Given the description of an element on the screen output the (x, y) to click on. 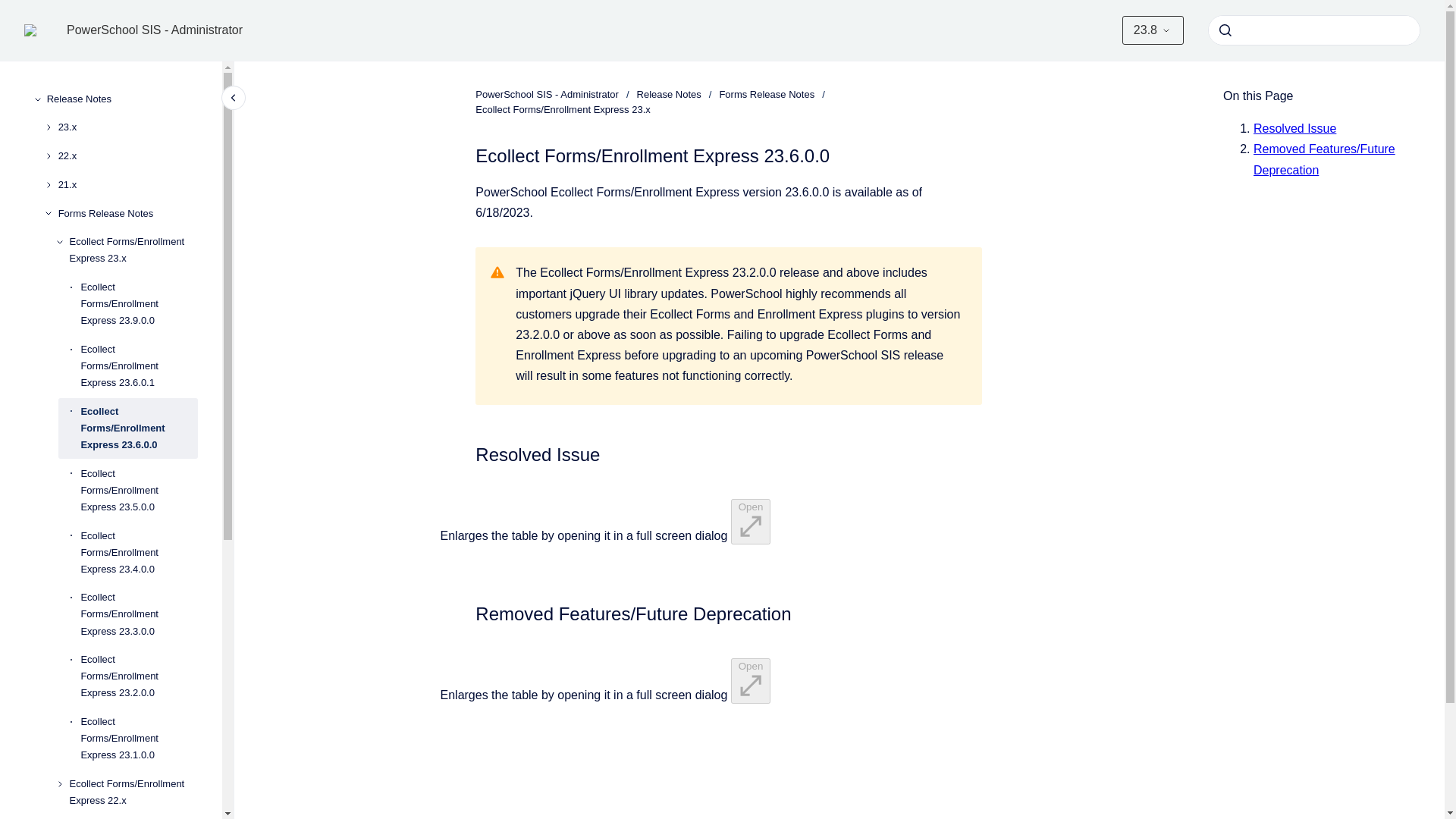
Forms Release Notes (128, 213)
Release Notes (122, 99)
22.x (128, 155)
21.x (128, 185)
23.x (128, 127)
PowerSchool SIS - Administrator (154, 29)
23.8 (1152, 30)
